Given the description of an element on the screen output the (x, y) to click on. 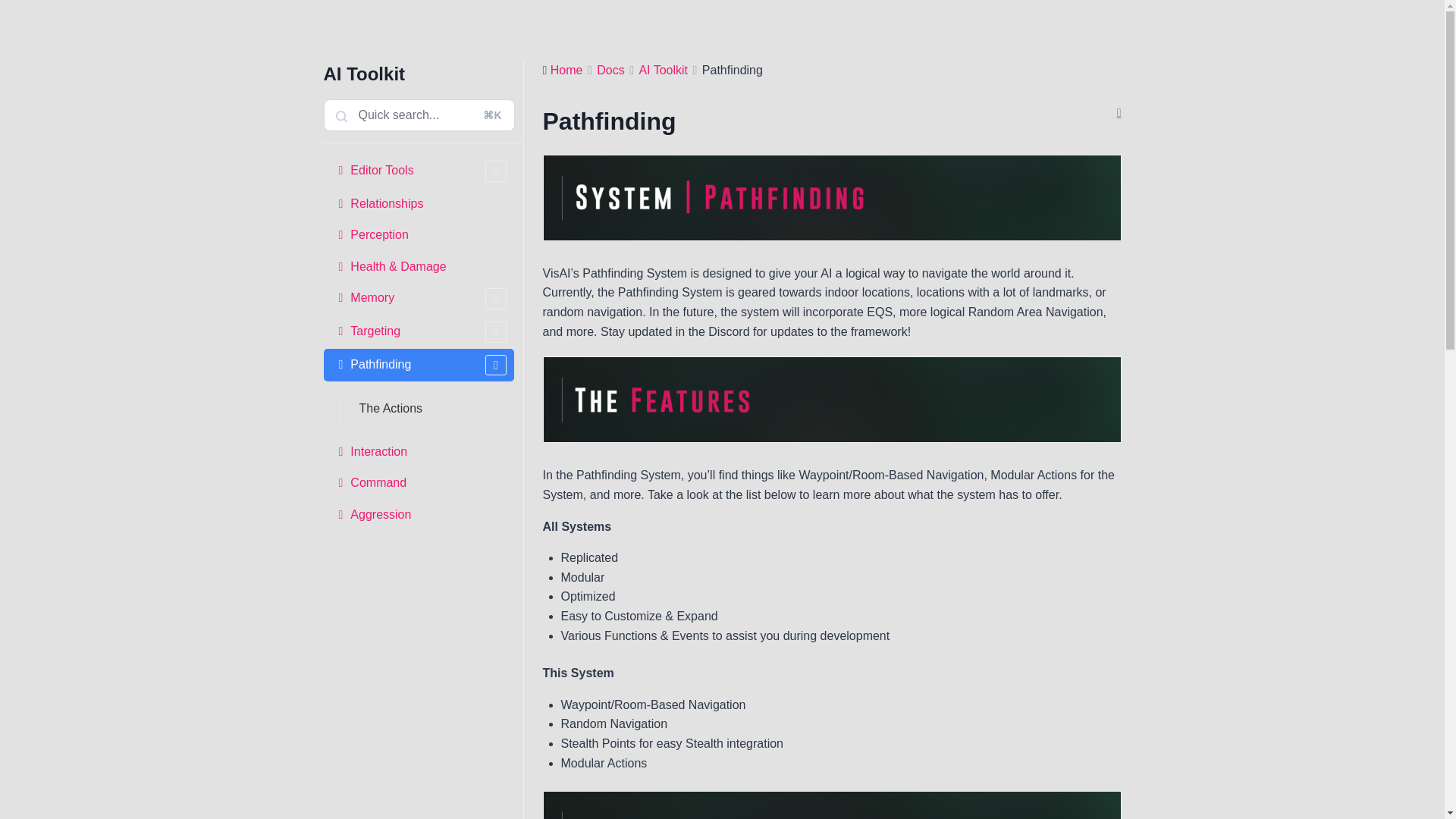
Search for: (418, 115)
Editor Tools (418, 171)
Interaction (418, 451)
AI Toolkit (663, 69)
Perception (418, 234)
Command (418, 482)
Targeting (418, 331)
Home (566, 69)
Aggression (418, 514)
The Actions (428, 409)
Pathfinding (418, 365)
Docs (610, 69)
Memory (418, 298)
Relationships (418, 204)
